Given the description of an element on the screen output the (x, y) to click on. 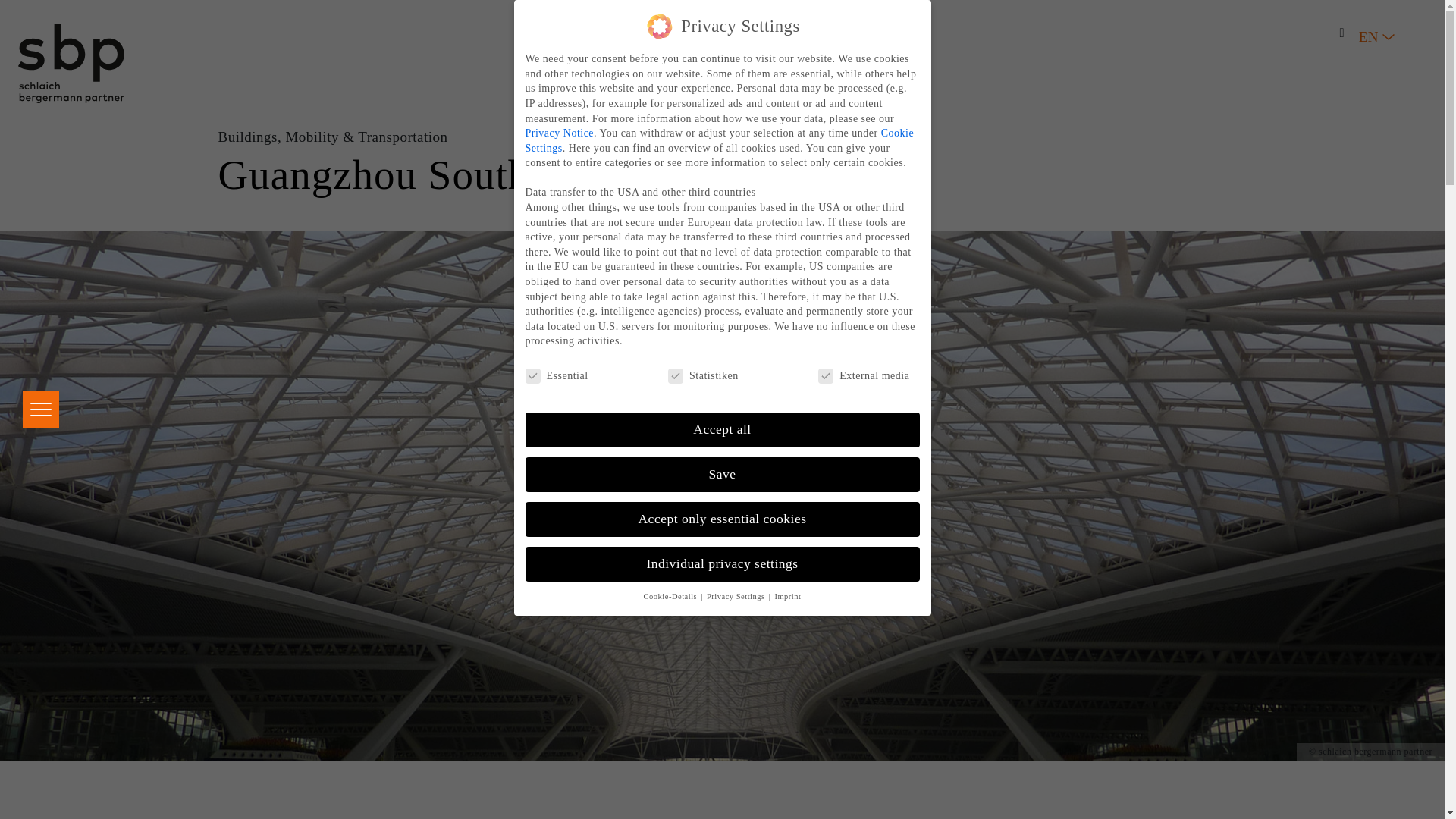
sbp (70, 63)
